Given the description of an element on the screen output the (x, y) to click on. 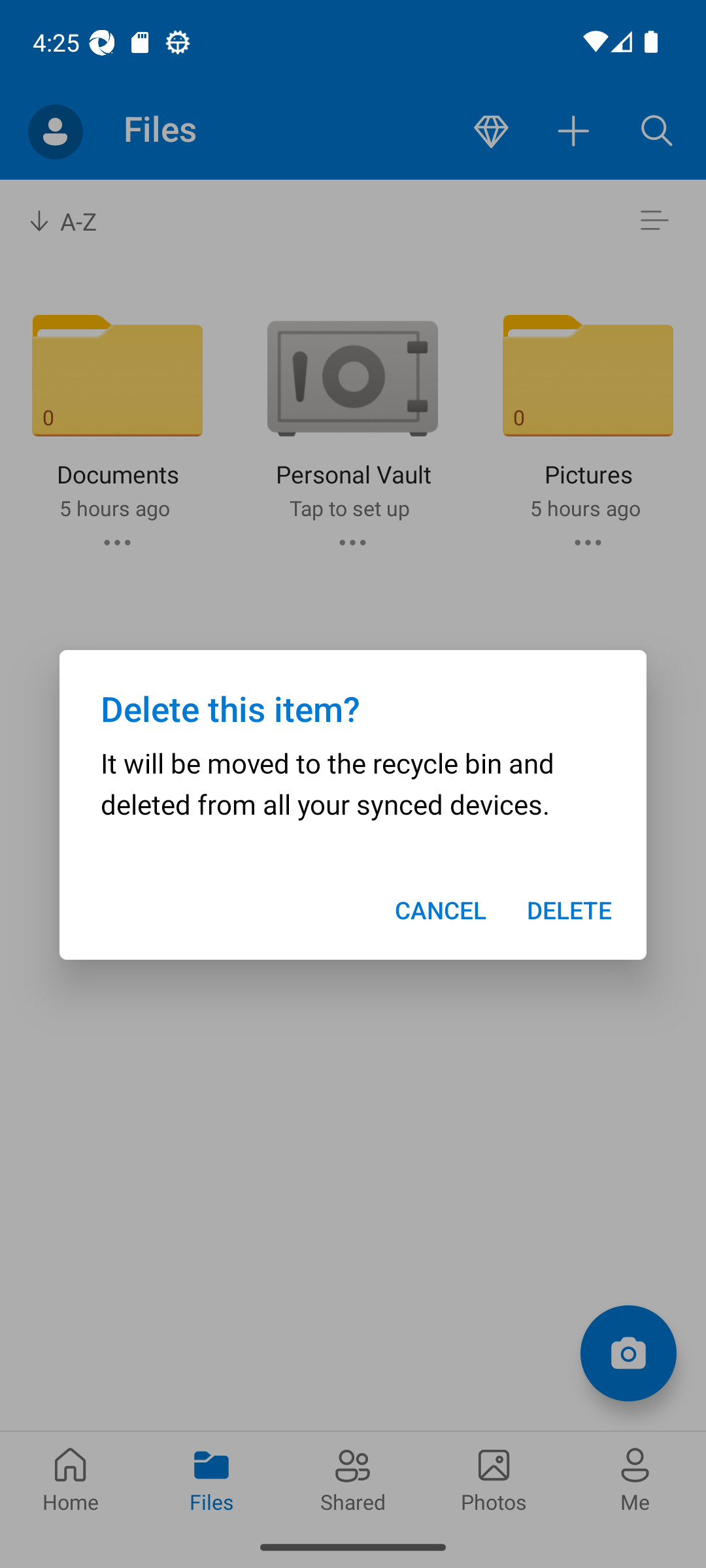
CANCEL (440, 909)
DELETE (569, 909)
